Given the description of an element on the screen output the (x, y) to click on. 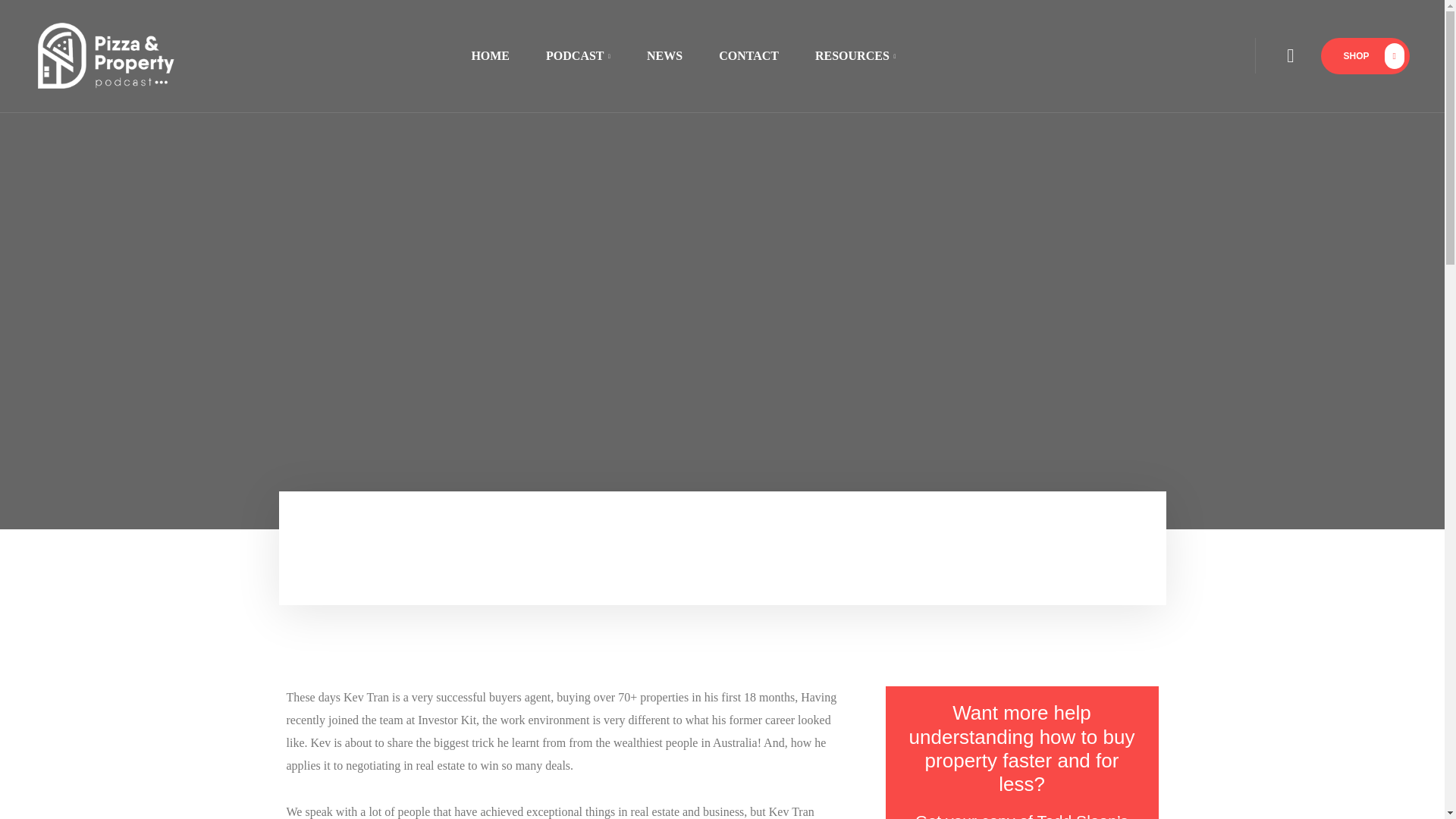
NEWS (664, 55)
SHOP (1364, 55)
HOME (489, 55)
RESOURCES (846, 55)
PODCAST (578, 55)
CONTACT (747, 55)
